Given the description of an element on the screen output the (x, y) to click on. 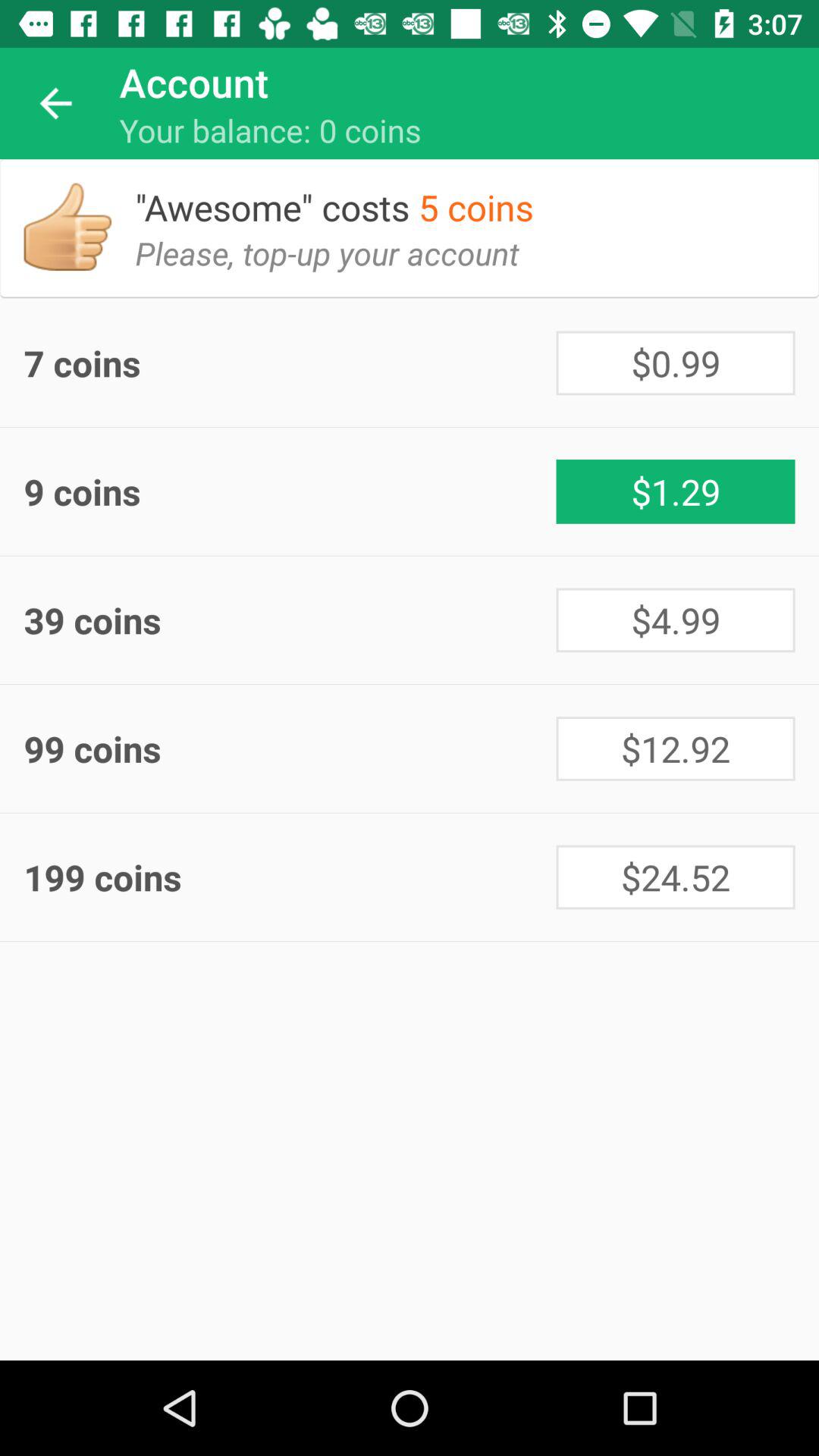
select icon next to account (55, 103)
